Given the description of an element on the screen output the (x, y) to click on. 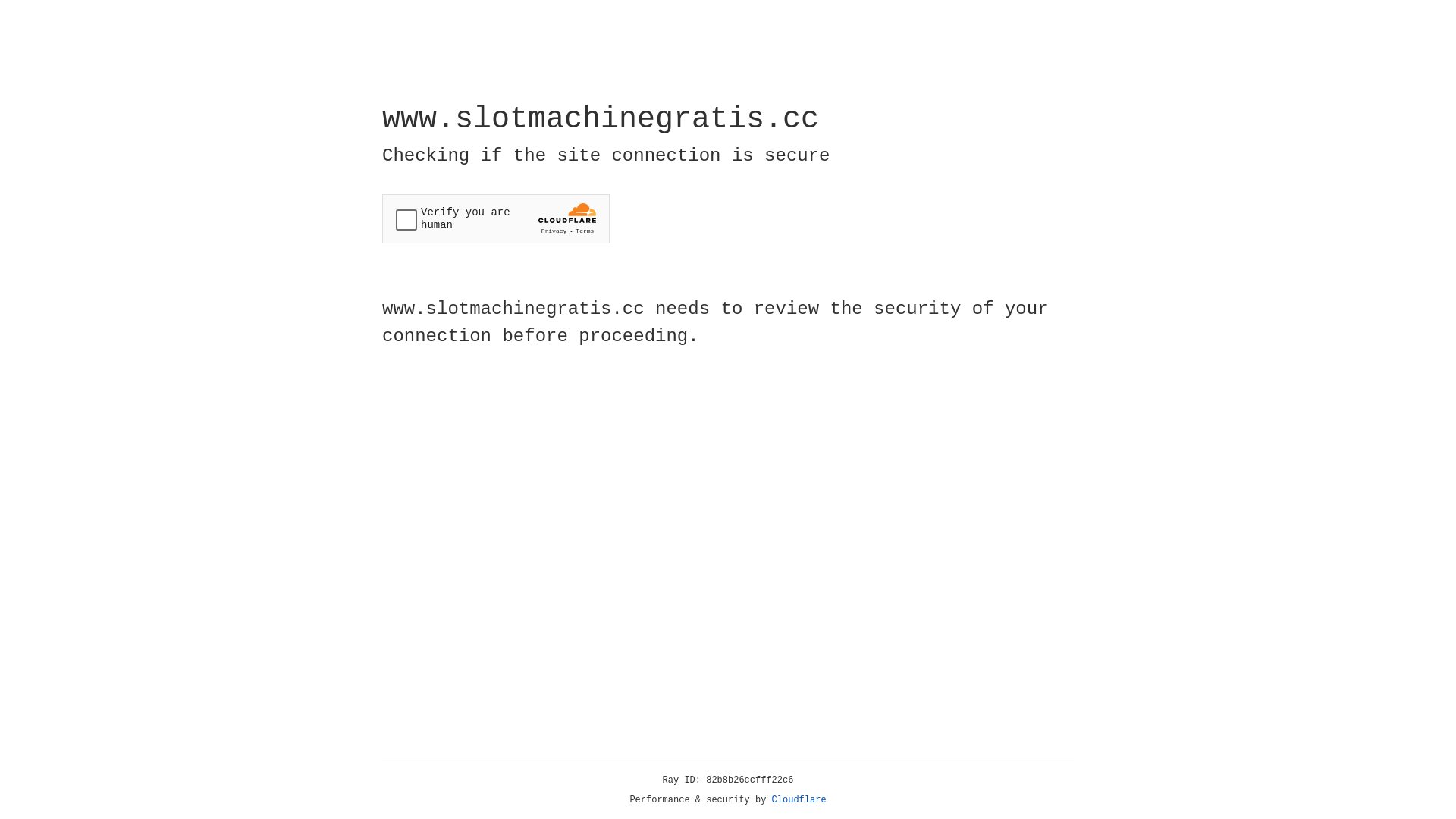
Cloudflare Element type: text (798, 799)
Widget containing a Cloudflare security challenge Element type: hover (495, 218)
